Given the description of an element on the screen output the (x, y) to click on. 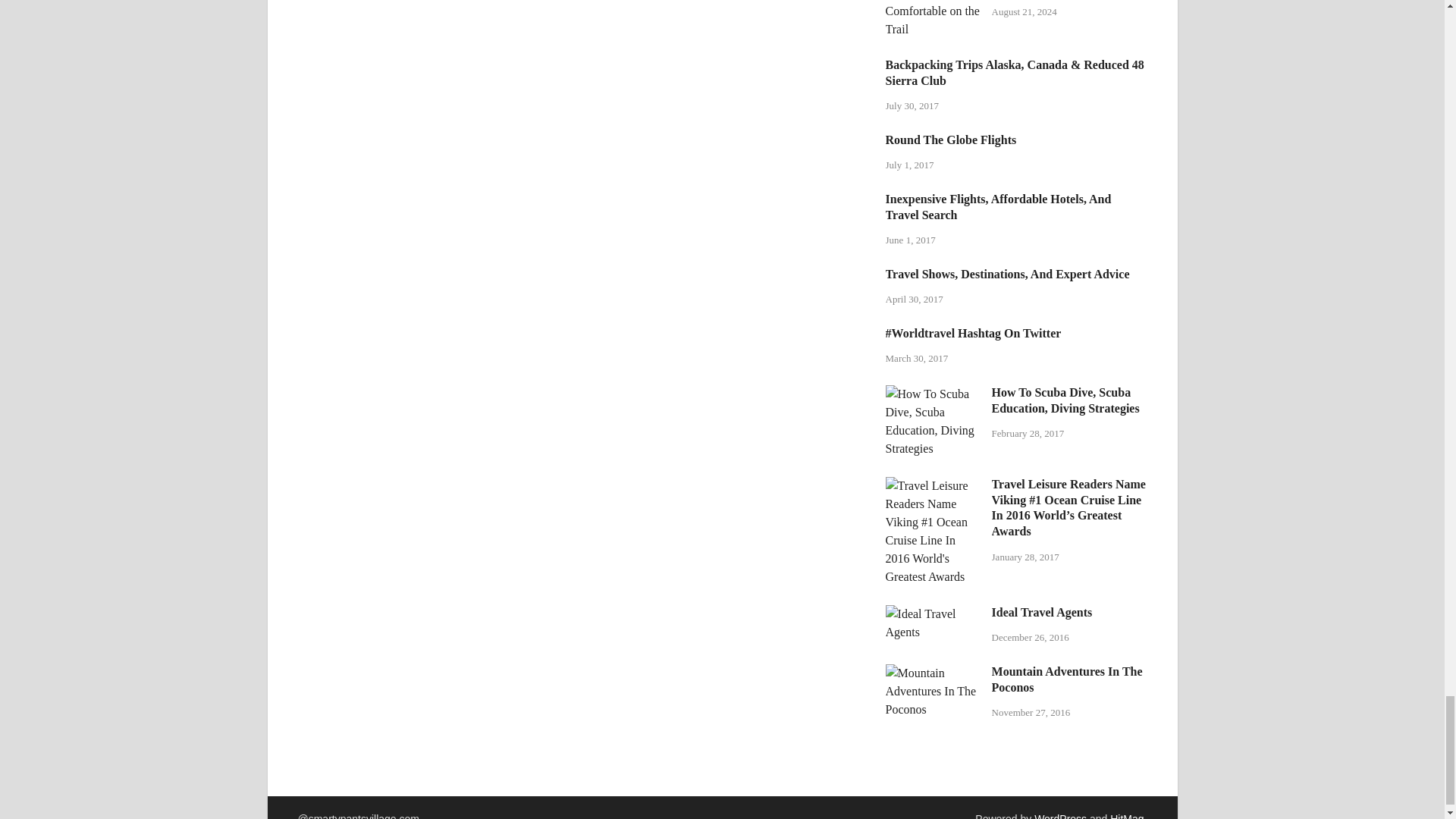
Ideal Travel Agents (932, 613)
How To Scuba Dive, Scuba Education, Diving Strategies (932, 393)
Mountain Adventures In The Poconos (932, 672)
